Given the description of an element on the screen output the (x, y) to click on. 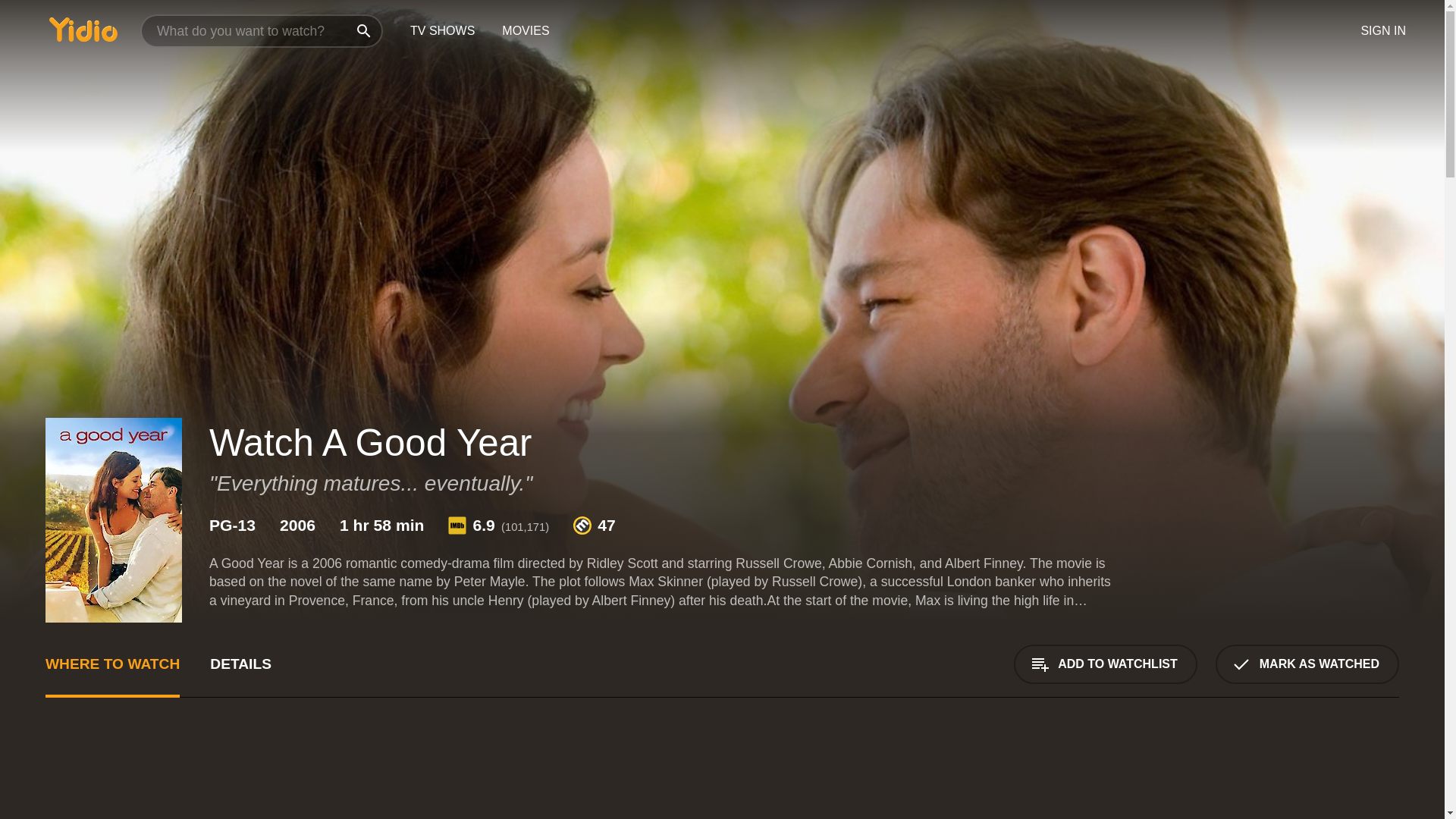
Yidio (82, 29)
Advertisement (1285, 776)
MARK AS WATCHED (1307, 663)
TV SHOWS (441, 31)
Advertisement (500, 776)
MOVIES (524, 31)
ADD TO WATCHLIST (1104, 663)
